Given the description of an element on the screen output the (x, y) to click on. 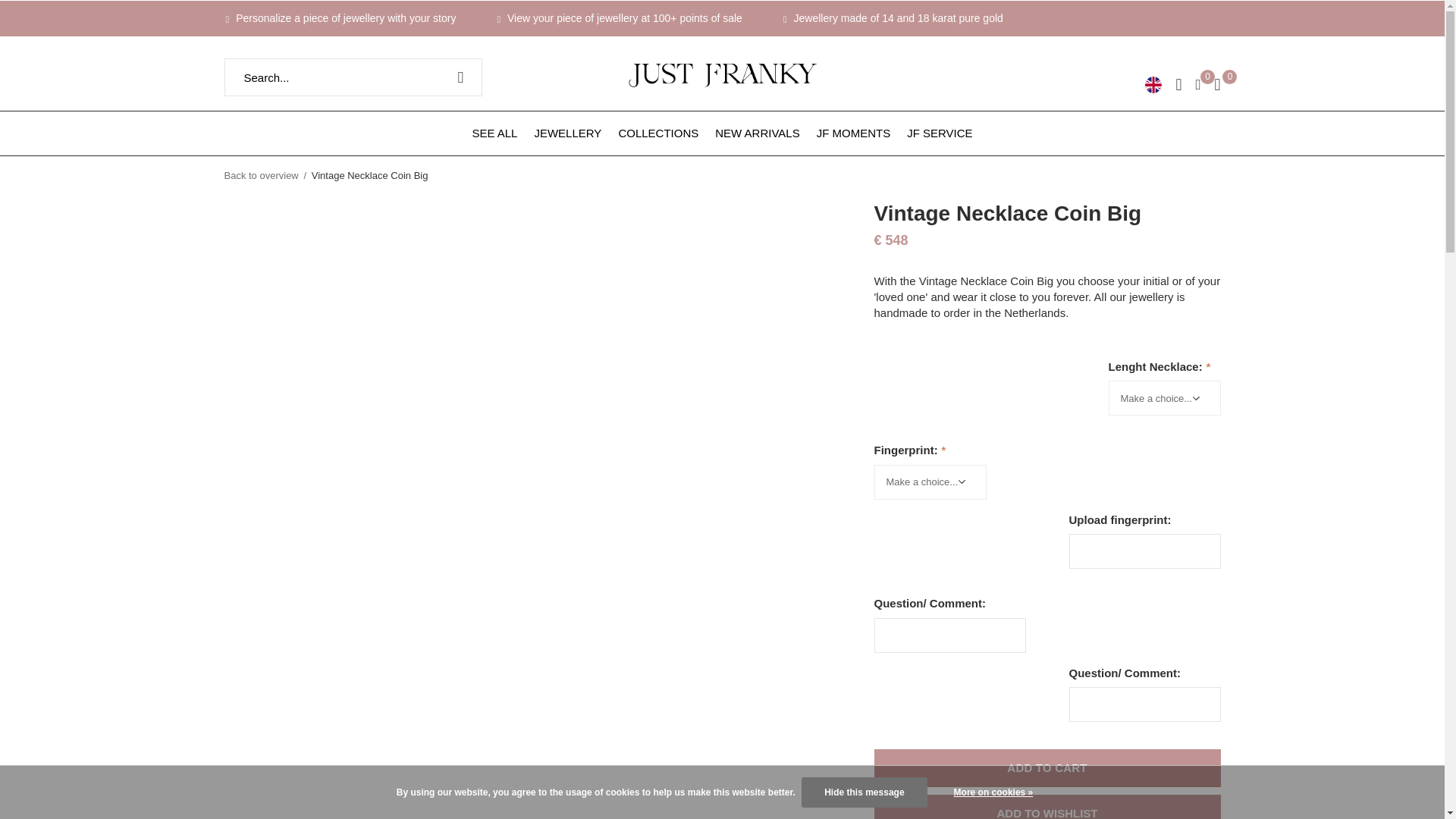
COLLECTIONS (657, 132)
JEWELLERY (567, 132)
More on cookies (993, 792)
SEE ALL (493, 132)
Hide this message (864, 792)
